Given the description of an element on the screen output the (x, y) to click on. 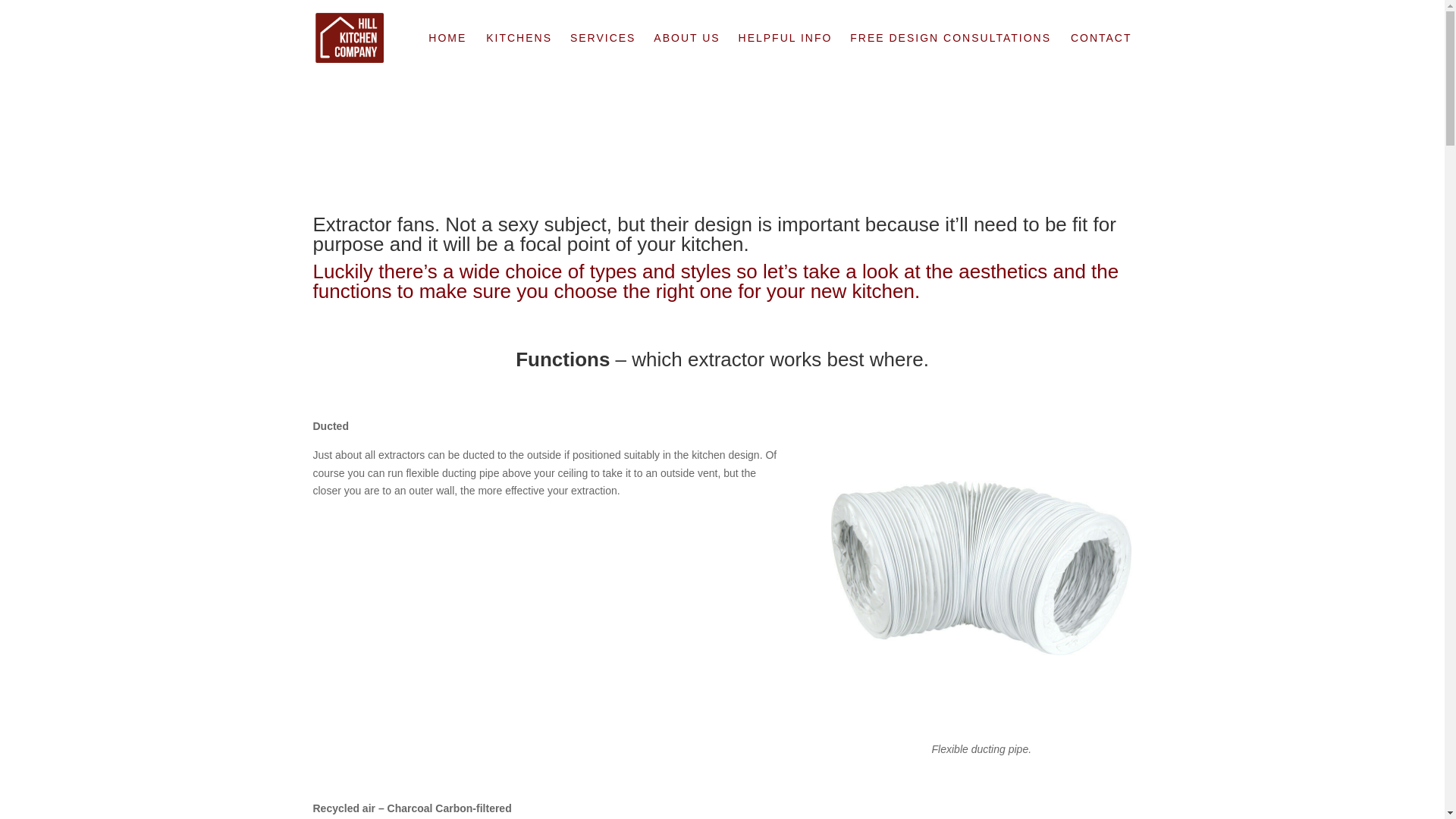
ABOUT US (694, 54)
Charcoal-Filter-1 (981, 809)
HELPFUL INFO (792, 54)
KITCHENS (526, 54)
Ducting tube white (981, 567)
SERVICES (610, 54)
CONTACT (1101, 54)
FREE DESIGN CONSULTATIONS (950, 54)
